Given the description of an element on the screen output the (x, y) to click on. 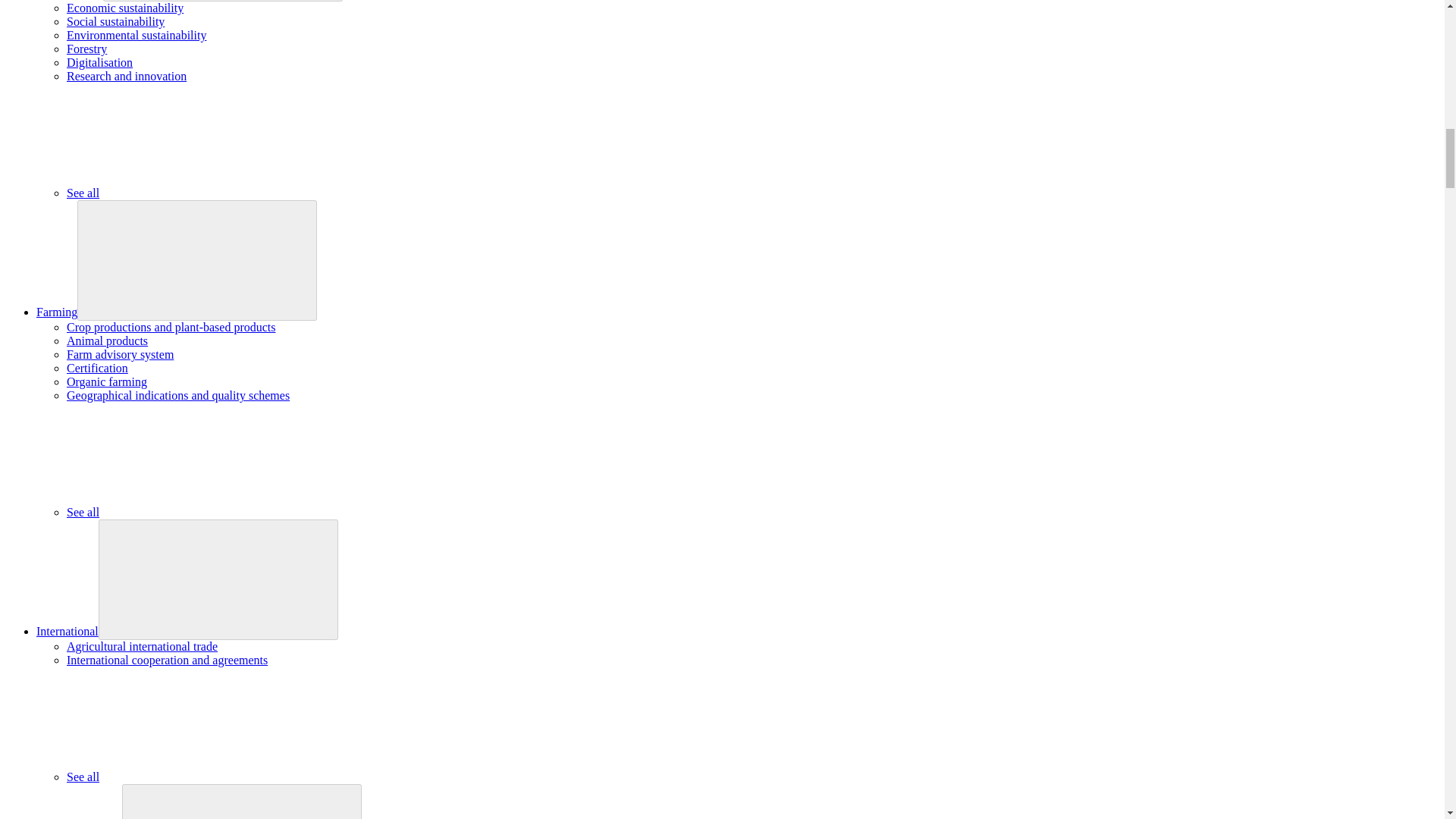
Digitalisation (99, 62)
Farm advisory system (119, 354)
Forestry (86, 48)
Social sustainability (115, 21)
Research and innovation (126, 75)
Farming (56, 311)
Environmental sustainability (136, 34)
See all (196, 192)
Animal products (107, 340)
Certification (97, 367)
